Given the description of an element on the screen output the (x, y) to click on. 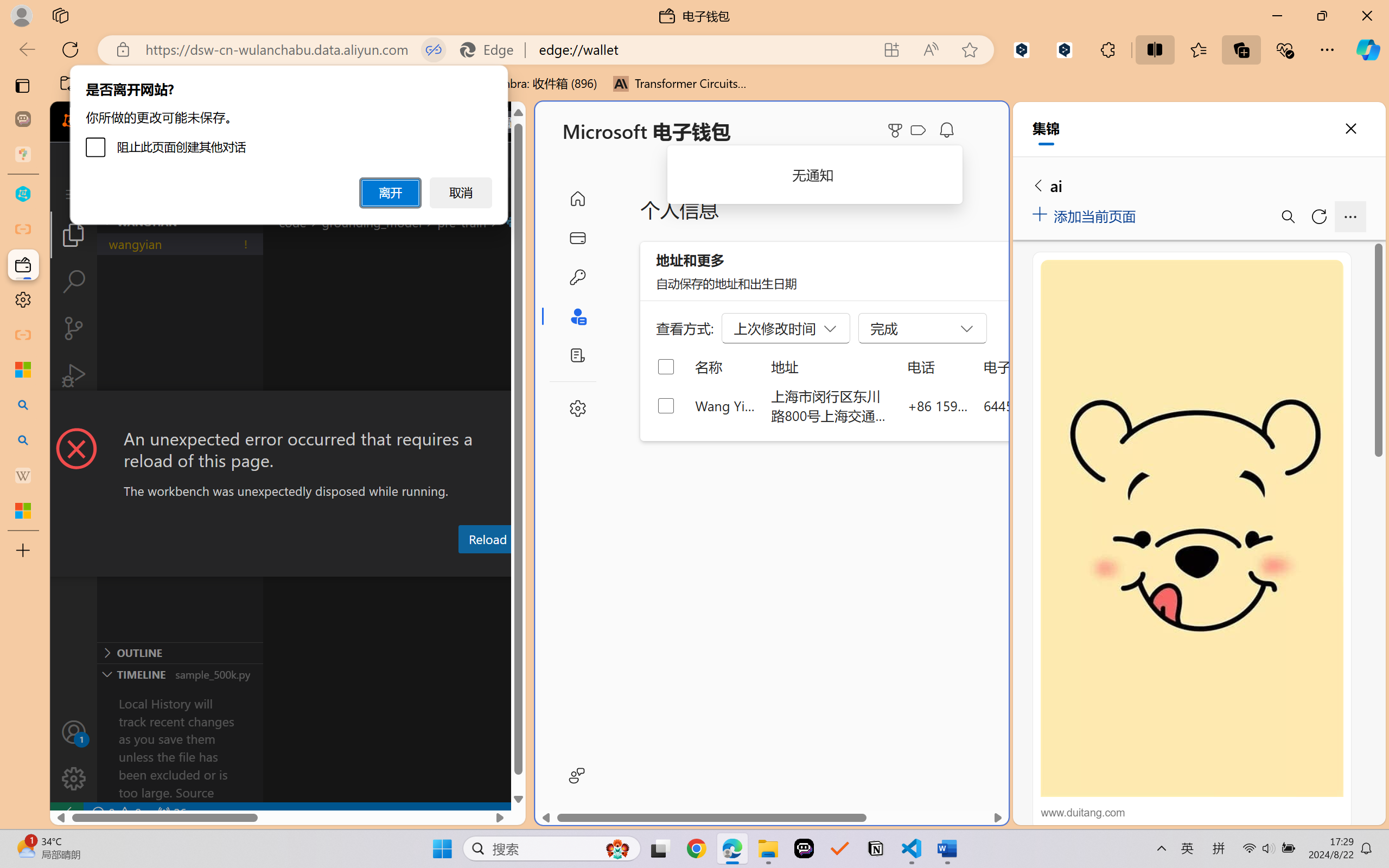
Run and Debug (Ctrl+Shift+D) (73, 375)
